Given the description of an element on the screen output the (x, y) to click on. 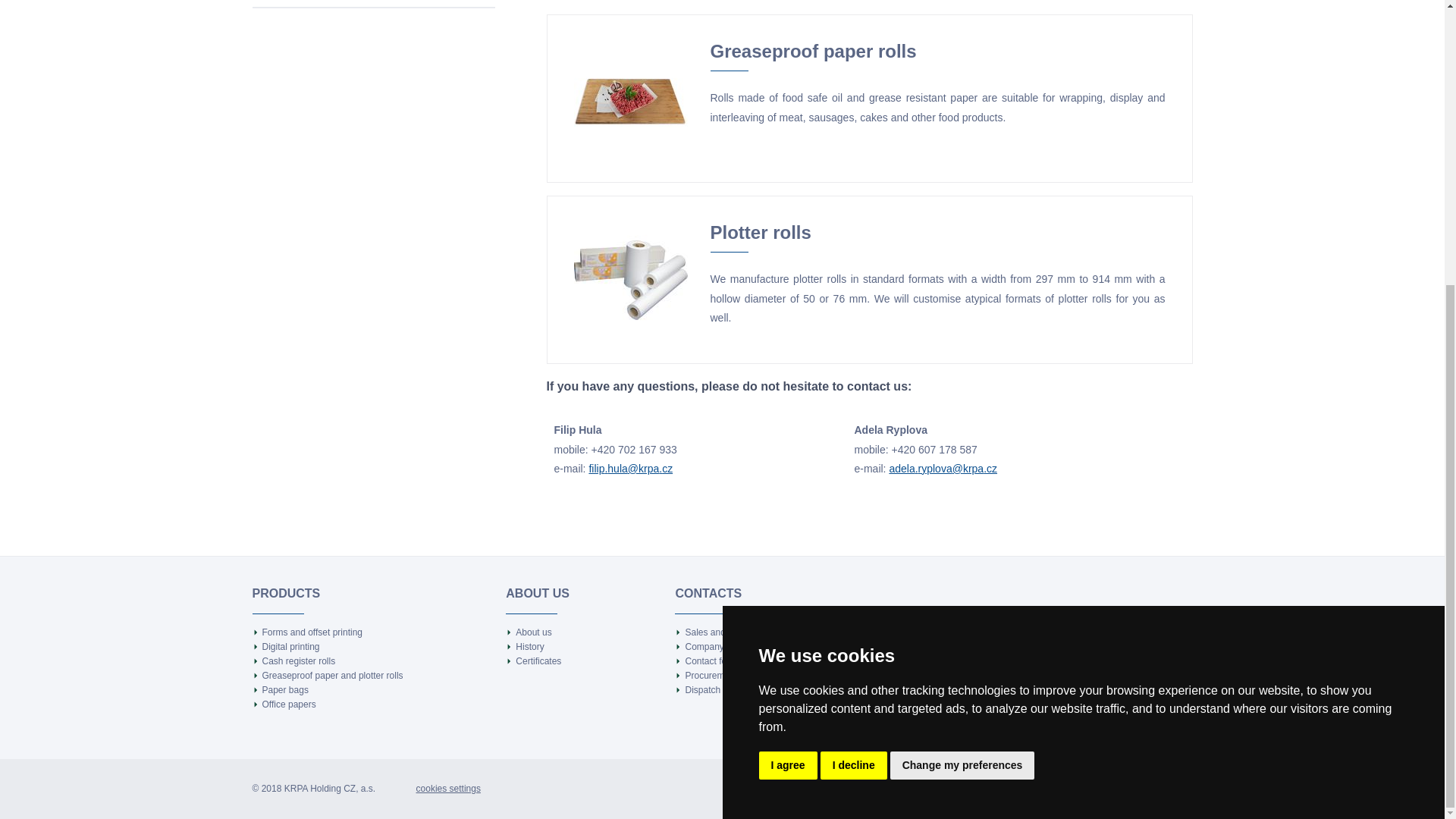
I decline (853, 335)
Change my preferences (962, 335)
I agree (787, 335)
